Given the description of an element on the screen output the (x, y) to click on. 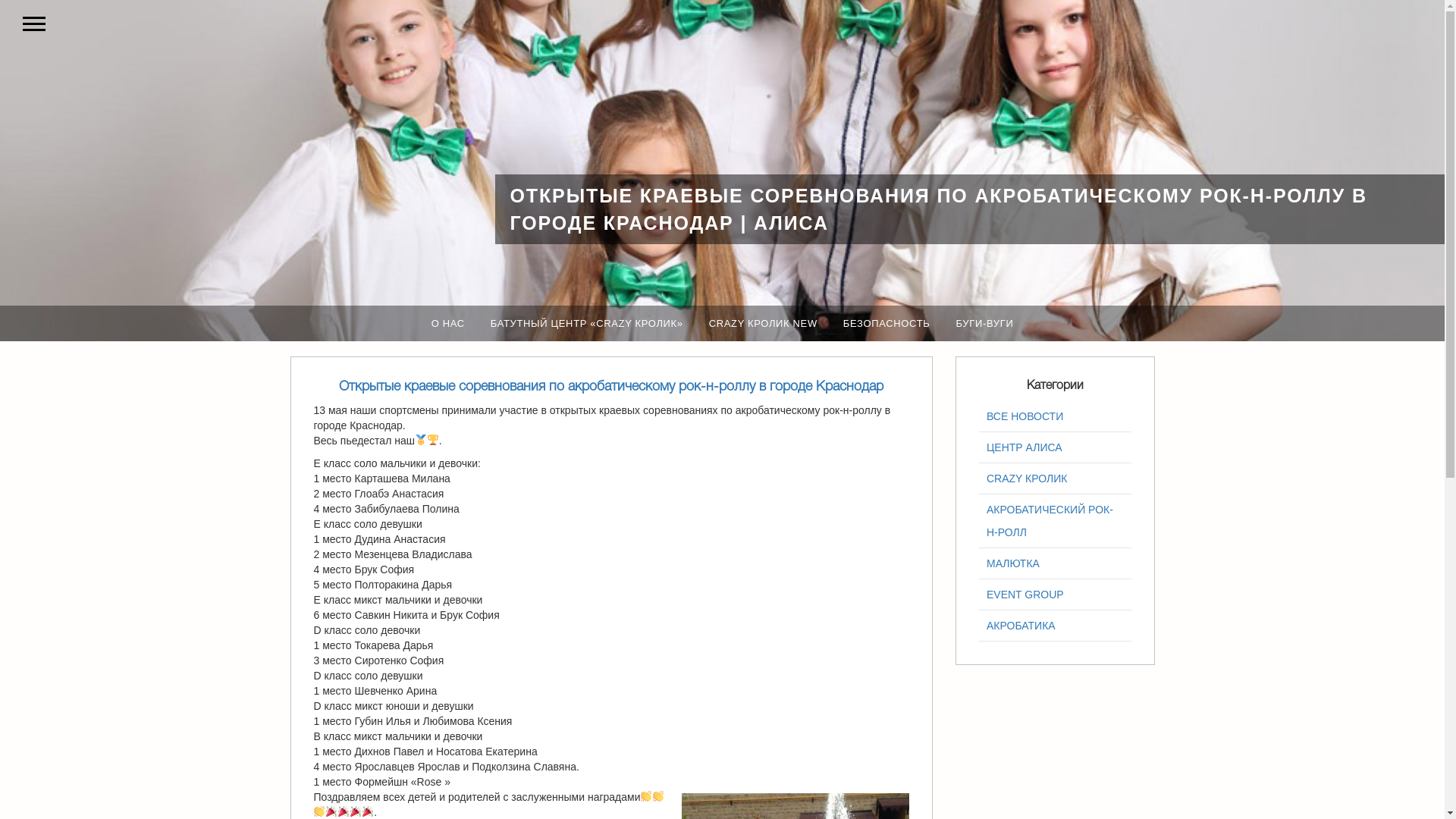
EVENT GROUP Element type: text (1055, 594)
